Given the description of an element on the screen output the (x, y) to click on. 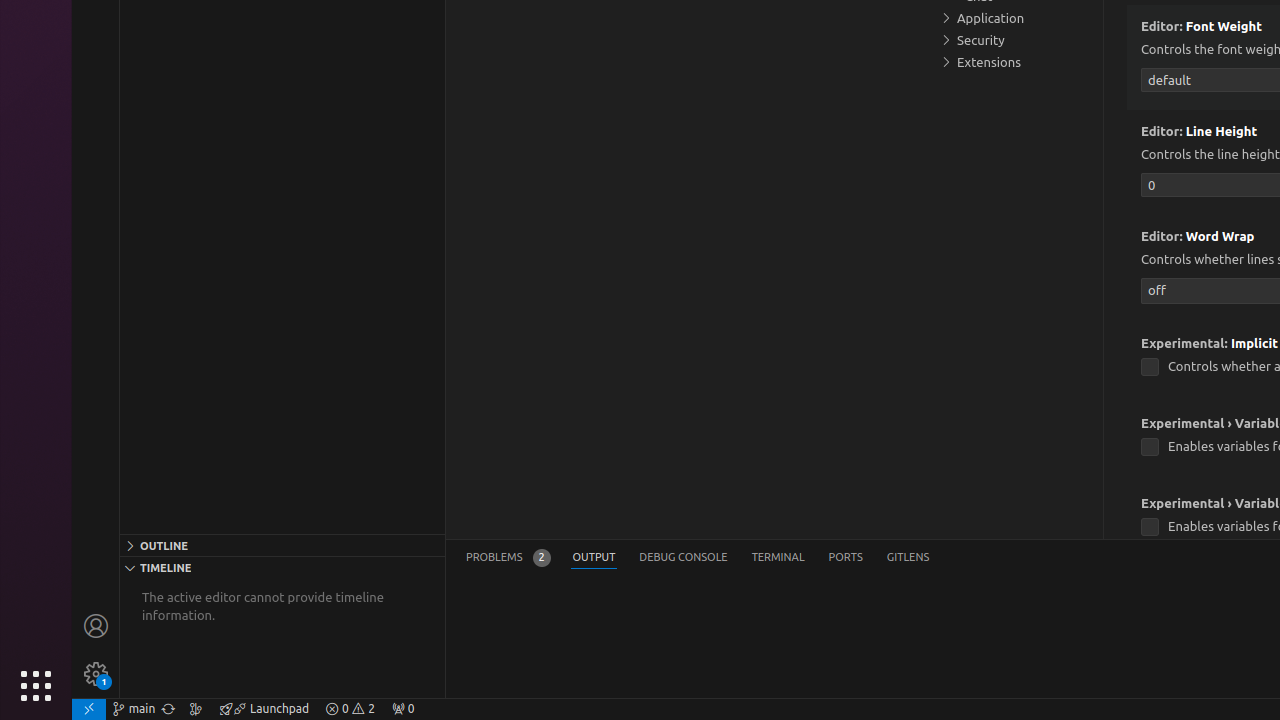
Outline Section Element type: push-button (282, 545)
